Given the description of an element on the screen output the (x, y) to click on. 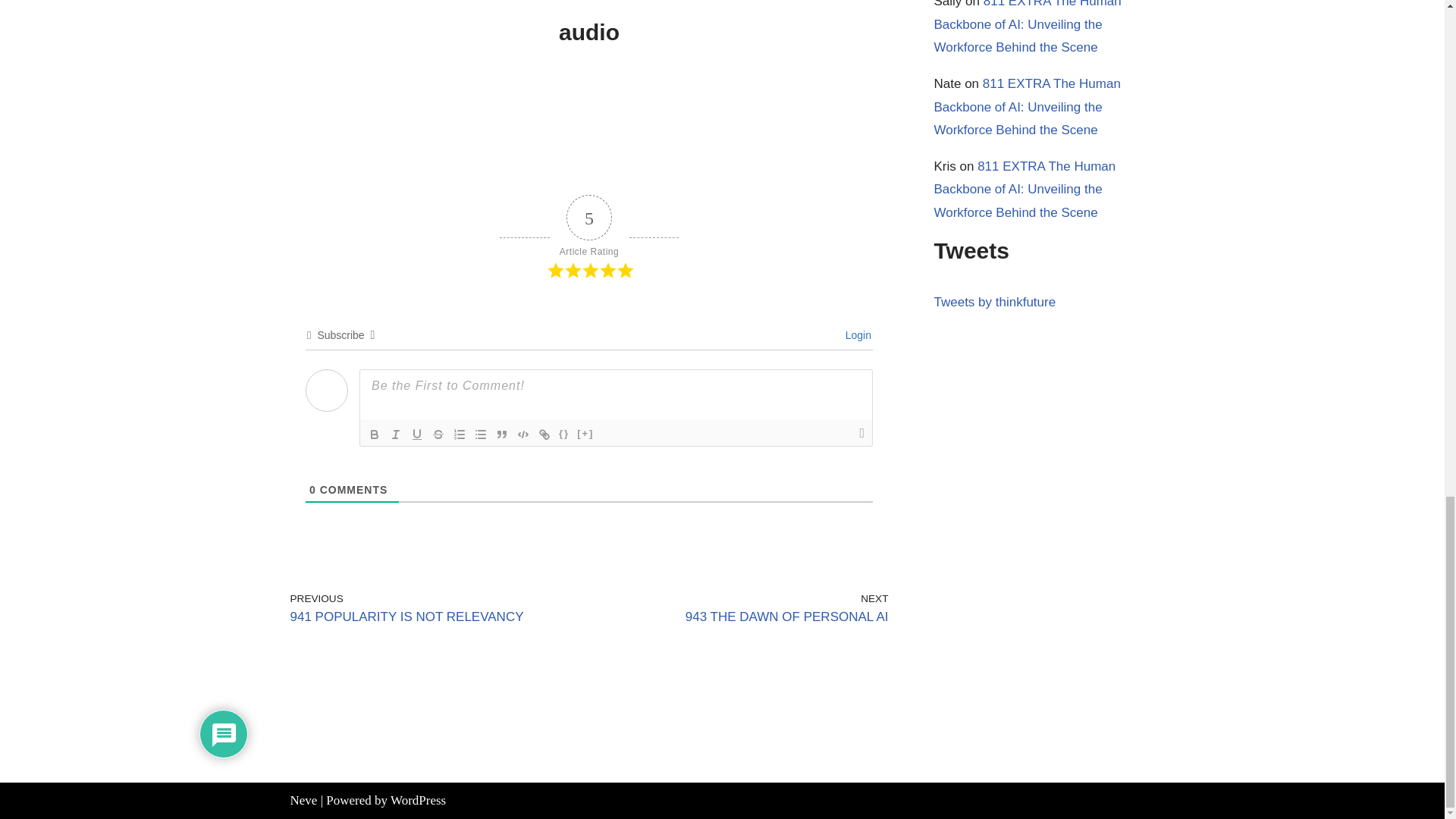
Unordered List (481, 434)
Blockquote (502, 434)
Underline (417, 434)
Login (855, 335)
Code Block (523, 434)
Link (544, 434)
ordered (459, 434)
Italic (395, 434)
Bold (374, 434)
bullet (481, 434)
Ordered List (459, 434)
Strike (438, 434)
